Given the description of an element on the screen output the (x, y) to click on. 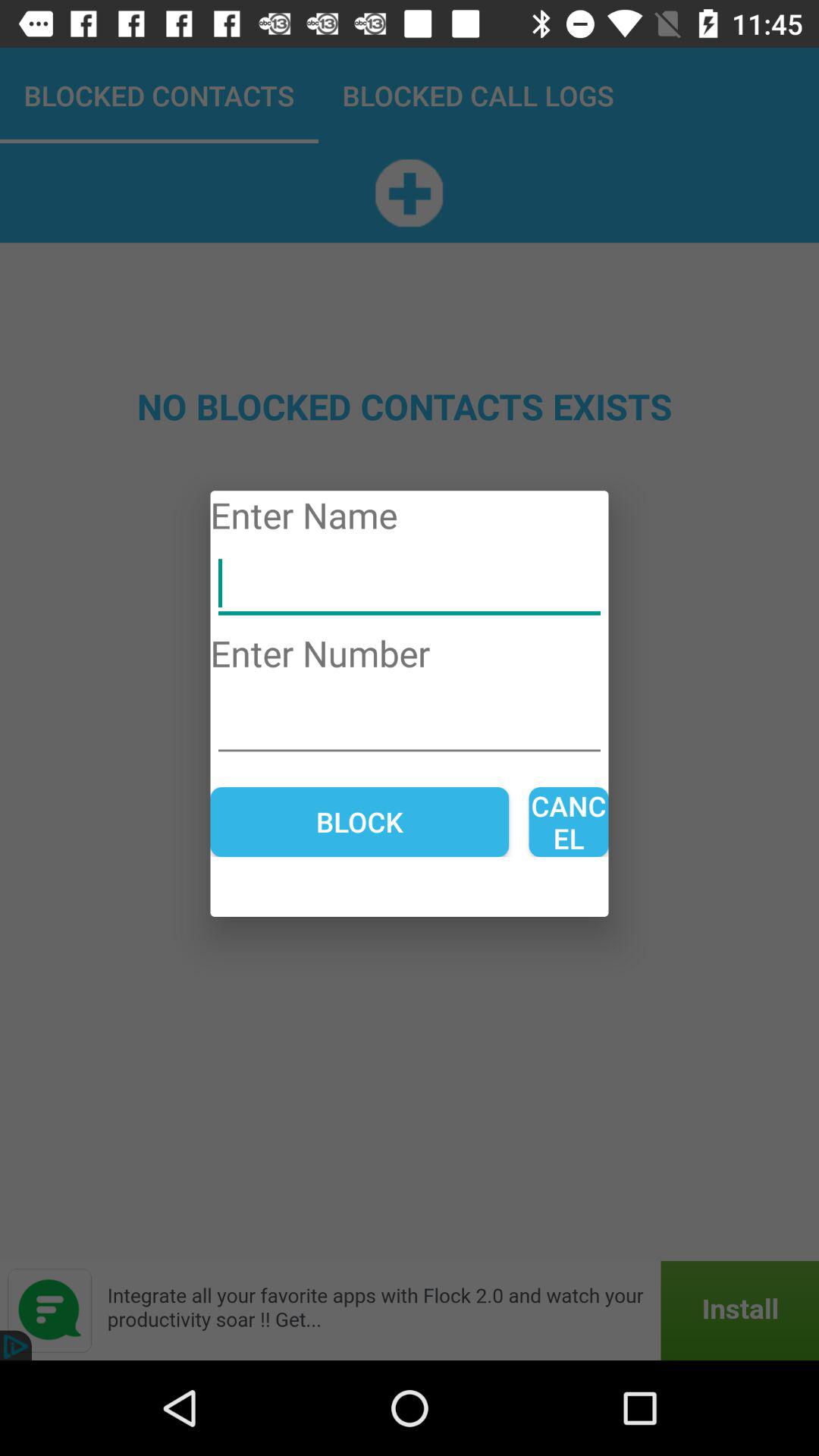
click the button to the right of block item (568, 822)
